Given the description of an element on the screen output the (x, y) to click on. 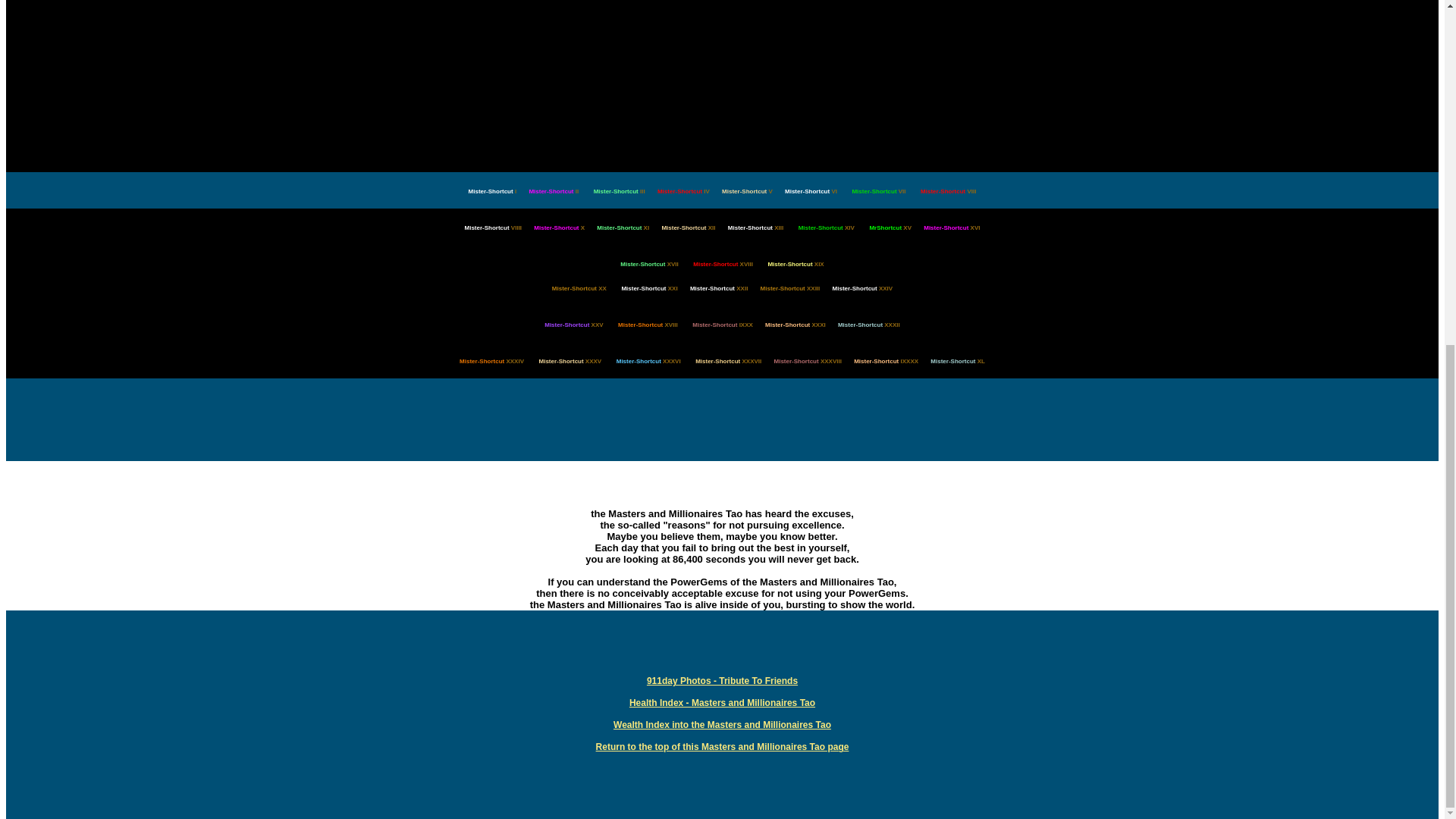
Mister-Shortcut III (619, 191)
Mister-Shortcut VI (810, 191)
Mister-Shortcut IV (684, 191)
Mister-Shortcut I (492, 191)
Mister-Shortcut V (747, 191)
Mister-Shortcut II (553, 191)
